Given the description of an element on the screen output the (x, y) to click on. 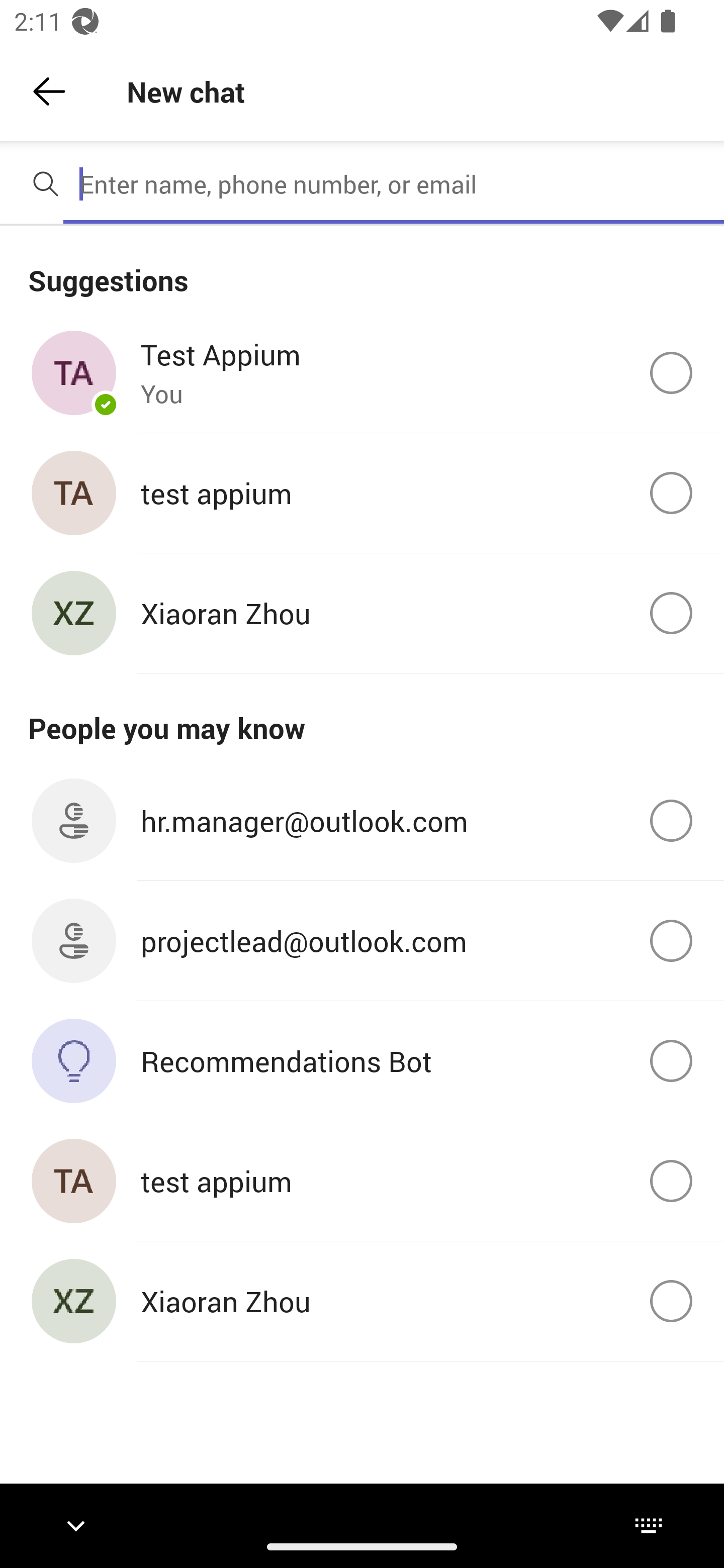
Back (49, 91)
Enter name, phone number, or email (393, 184)
Suggestions section header Suggestions (362, 269)
